Given the description of an element on the screen output the (x, y) to click on. 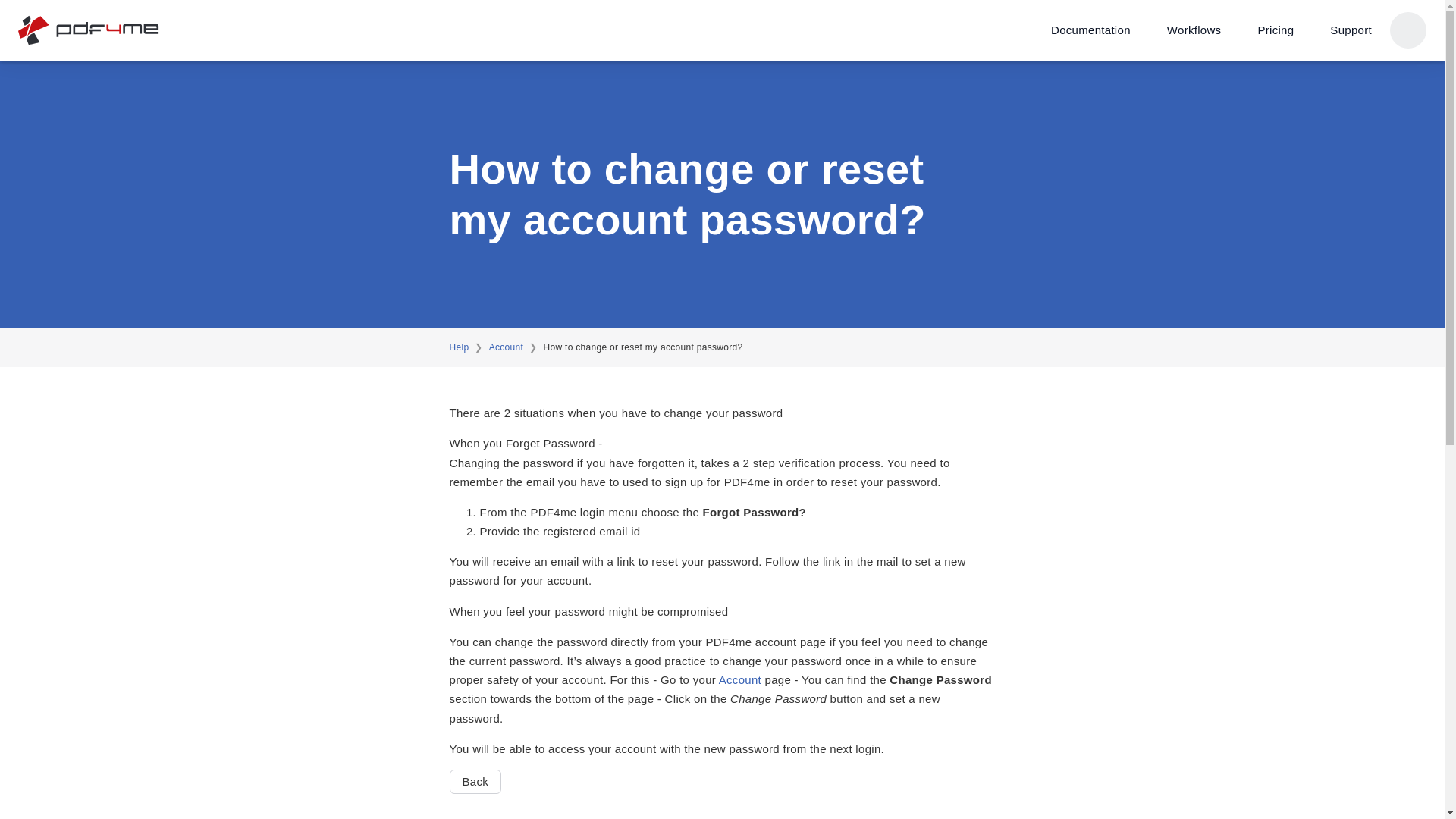
Back (474, 781)
Account (505, 346)
Documentation (1090, 29)
Support (1350, 29)
Help (458, 346)
Workflows (1194, 29)
Account (740, 679)
PDF4me logo (88, 30)
Pricing (1275, 29)
